Given the description of an element on the screen output the (x, y) to click on. 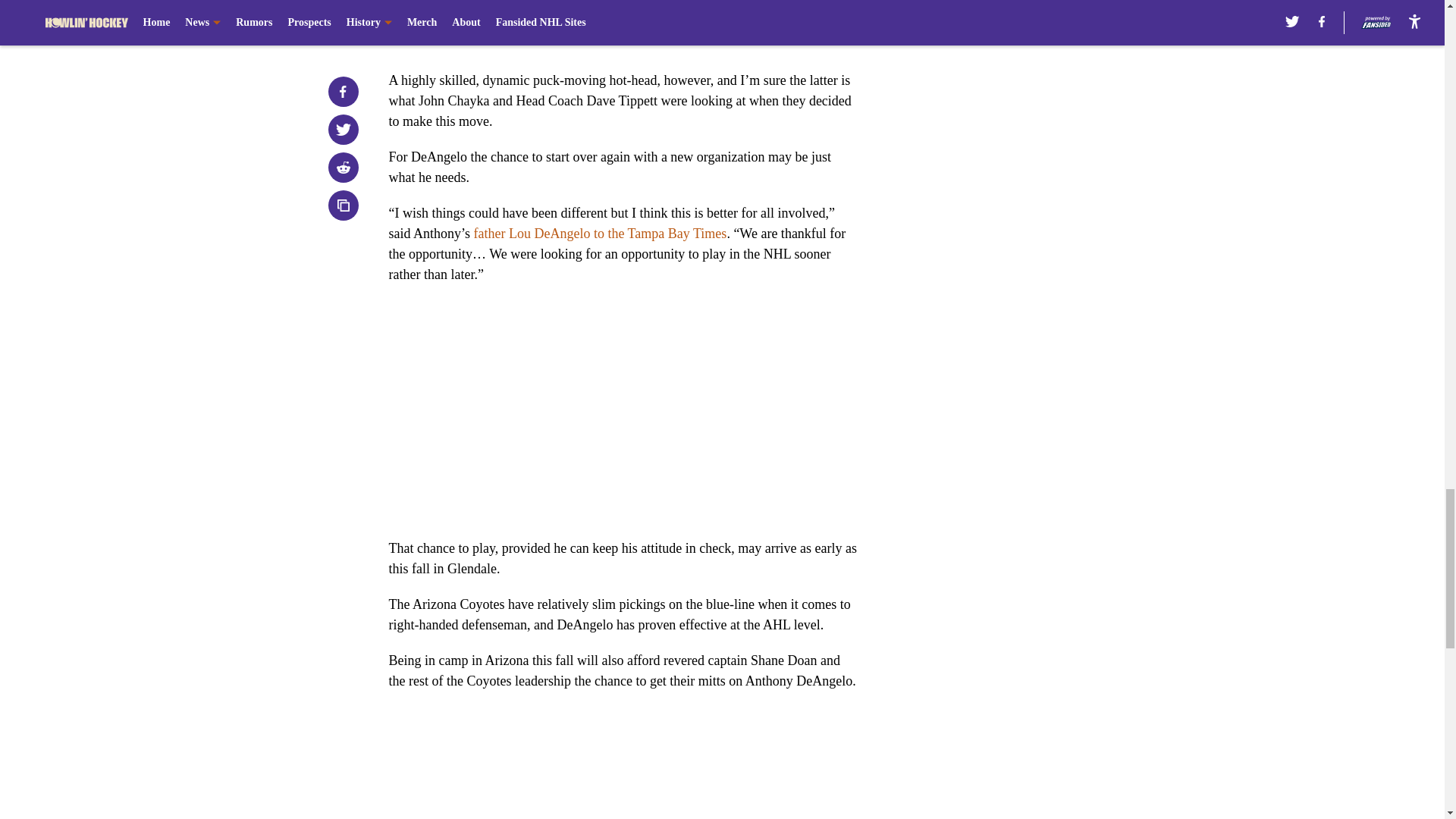
father Lou DeAngelo to the Tampa Bay Times (600, 233)
